Given the description of an element on the screen output the (x, y) to click on. 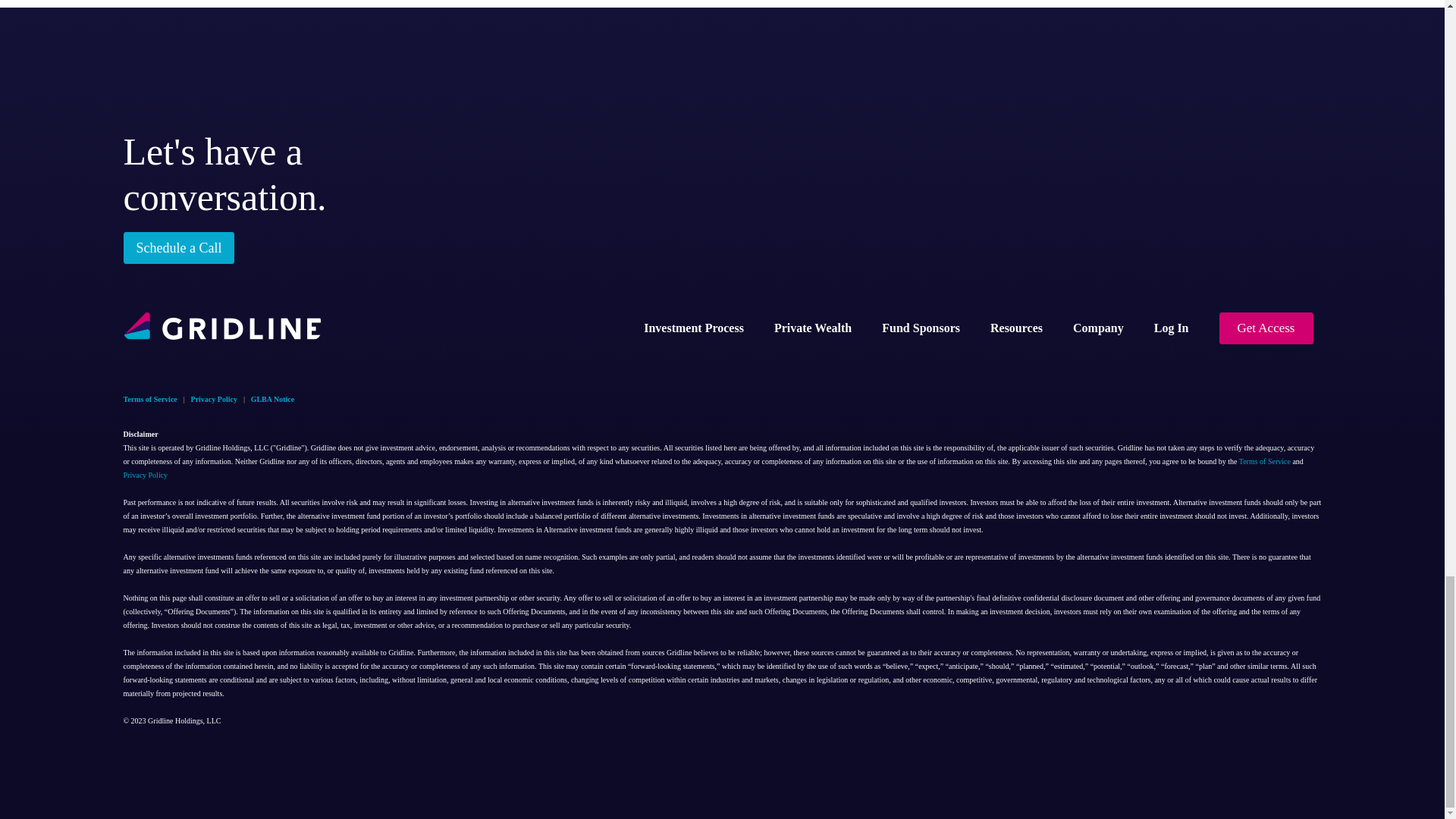
Investment Process (693, 327)
Private Wealth (812, 327)
Fund Sponsors (920, 327)
Schedule a Call (178, 247)
